Given the description of an element on the screen output the (x, y) to click on. 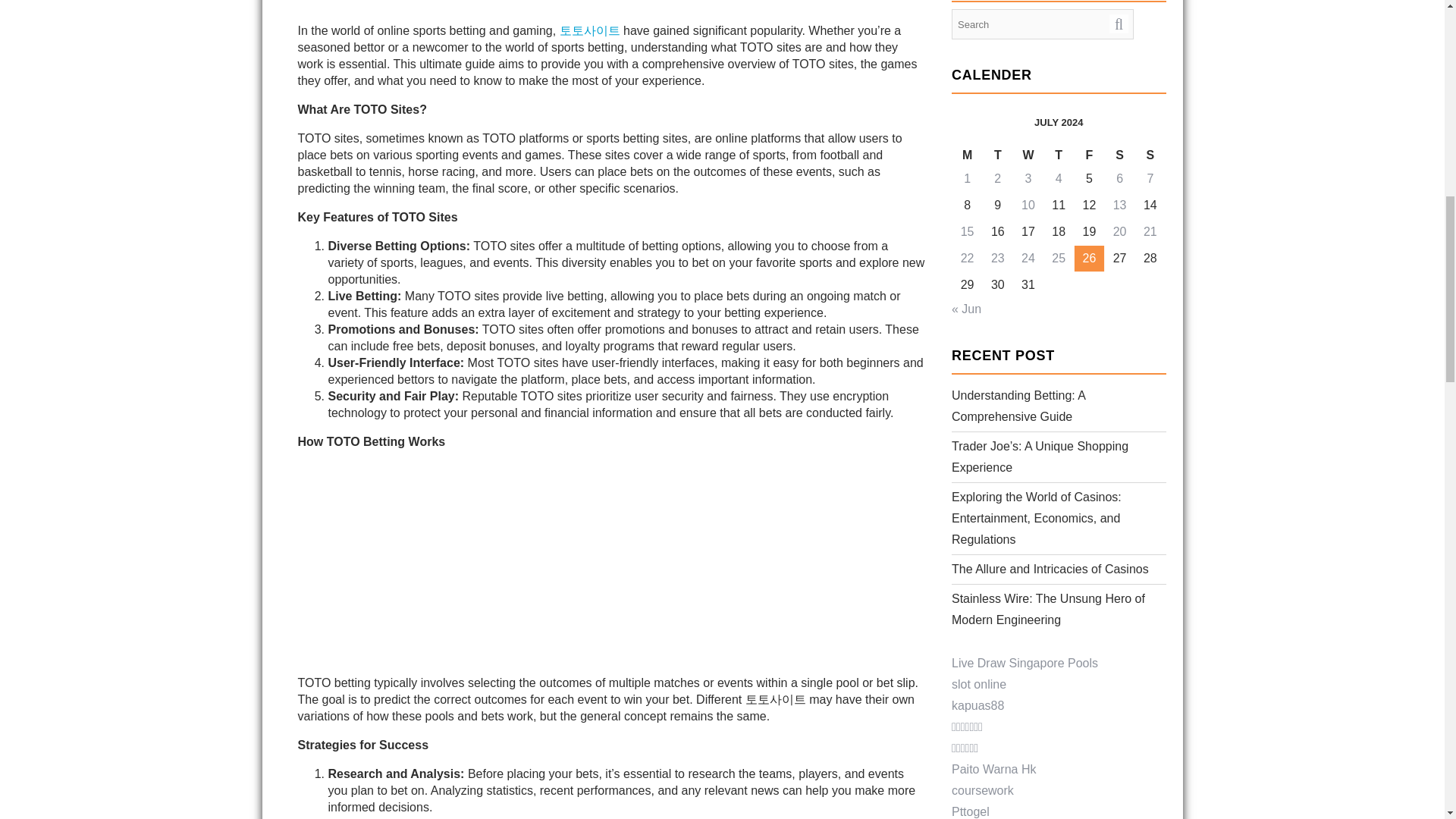
Wednesday (1028, 155)
Sunday (1150, 155)
Thursday (1058, 155)
Monday (967, 155)
Friday (1088, 155)
Saturday (1120, 155)
Tuesday (997, 155)
